Given the description of an element on the screen output the (x, y) to click on. 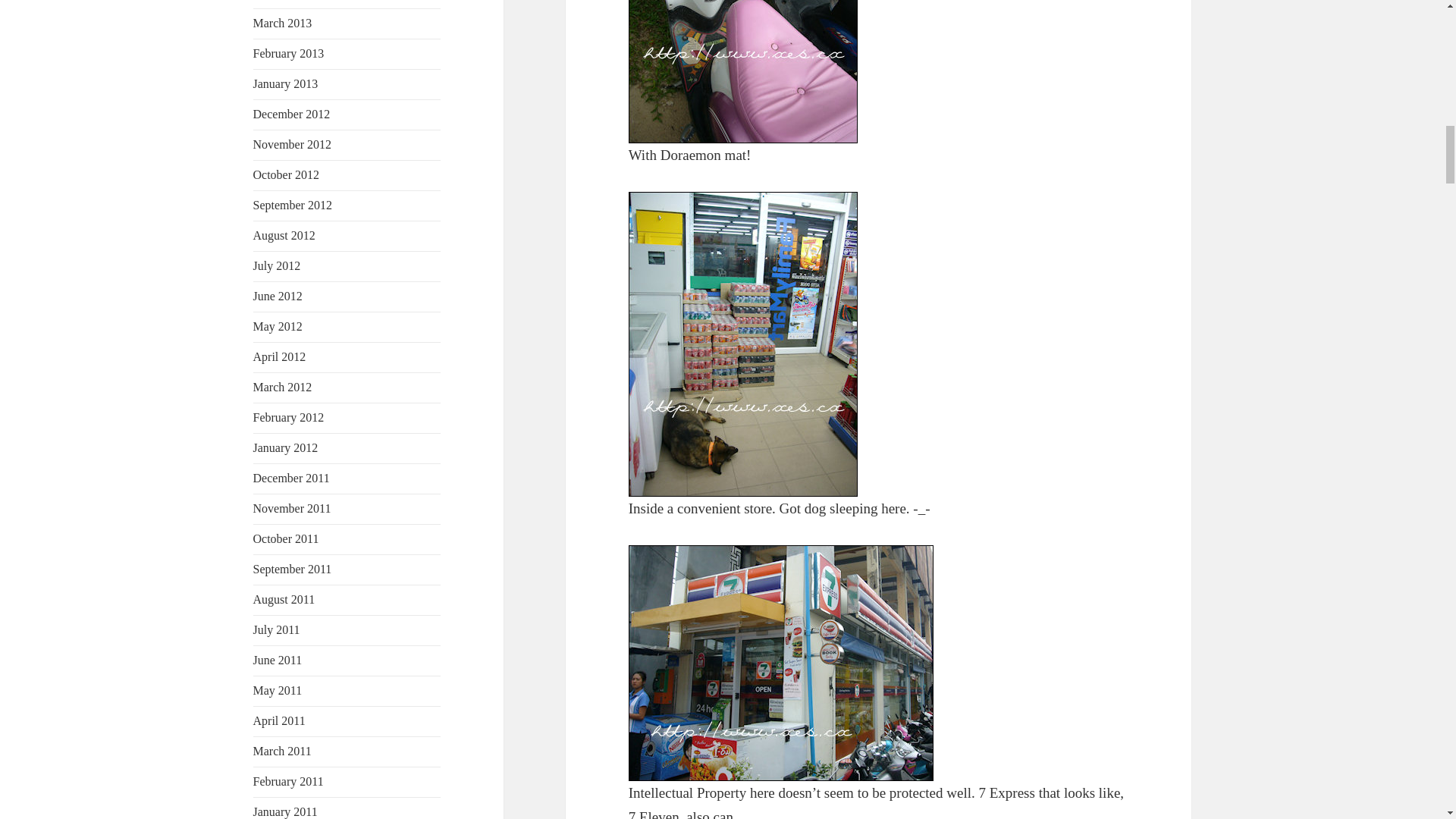
February 2013 (288, 52)
March 2013 (283, 22)
